Given the description of an element on the screen output the (x, y) to click on. 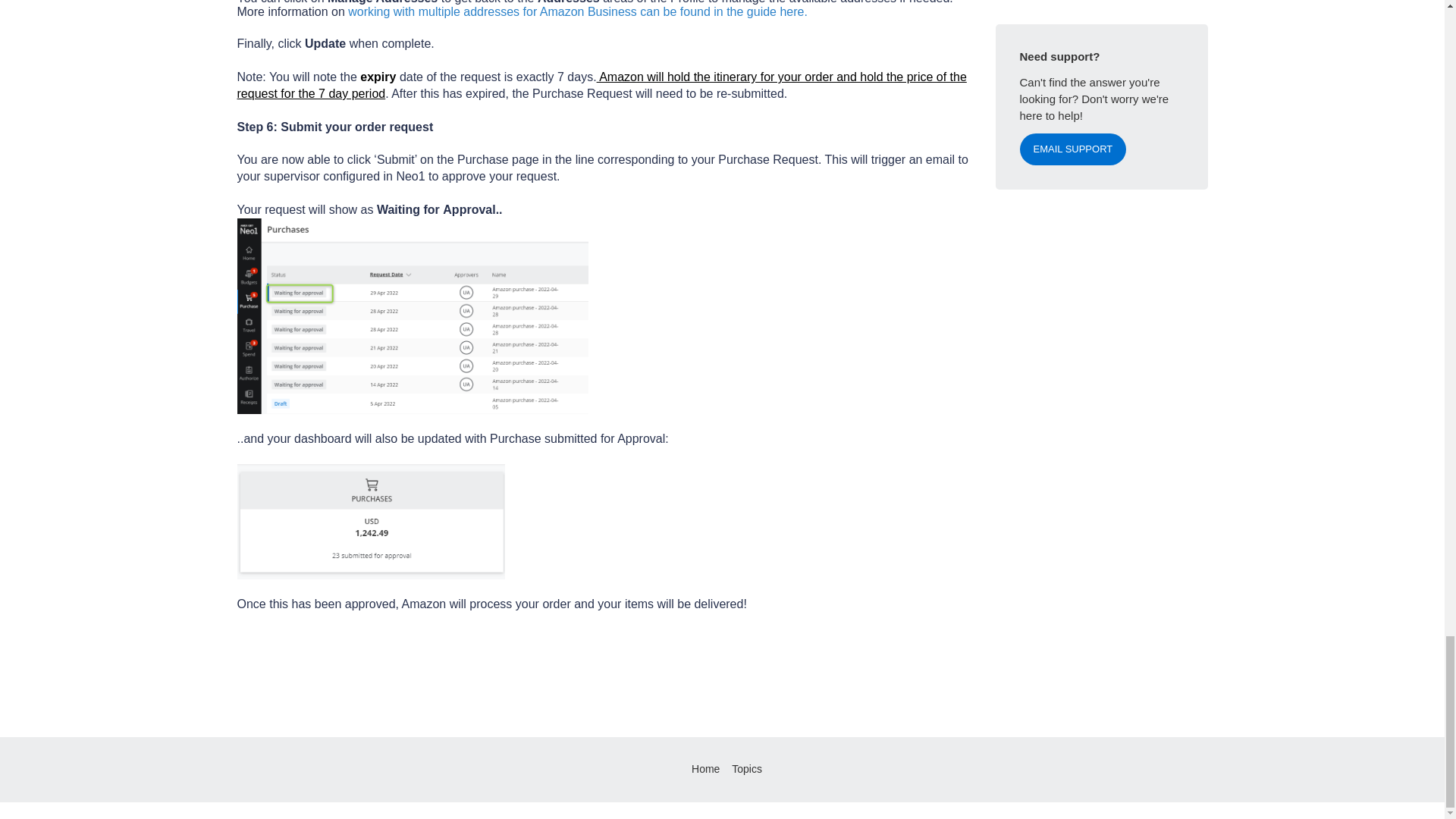
Home (705, 768)
Topics (746, 768)
